Given the description of an element on the screen output the (x, y) to click on. 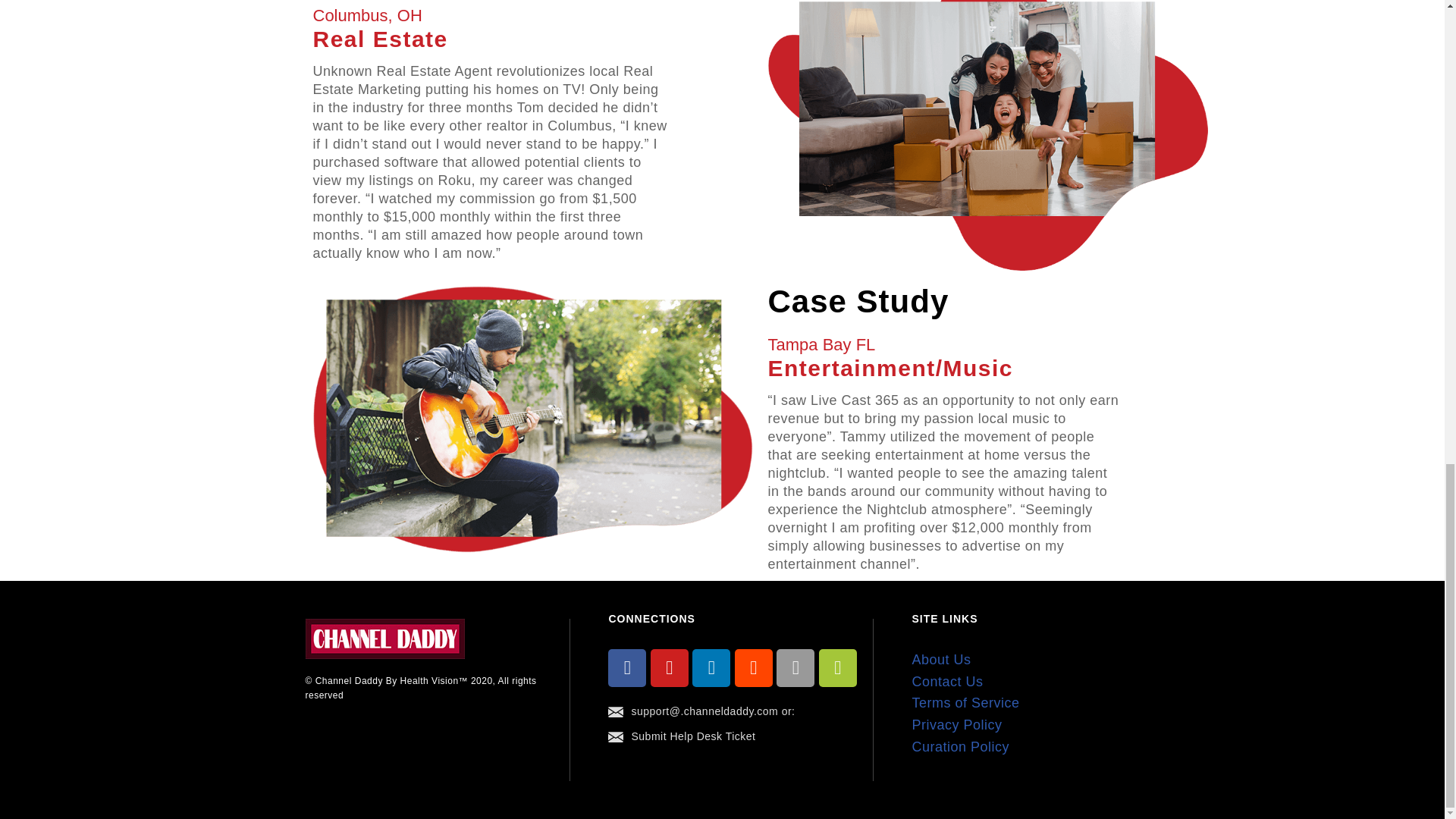
Curation Policy (960, 746)
About Us (941, 659)
Submit Help Desk Ticket (692, 736)
Terms of Service (965, 702)
Privacy Policy (956, 724)
Contact Us (946, 681)
